Given the description of an element on the screen output the (x, y) to click on. 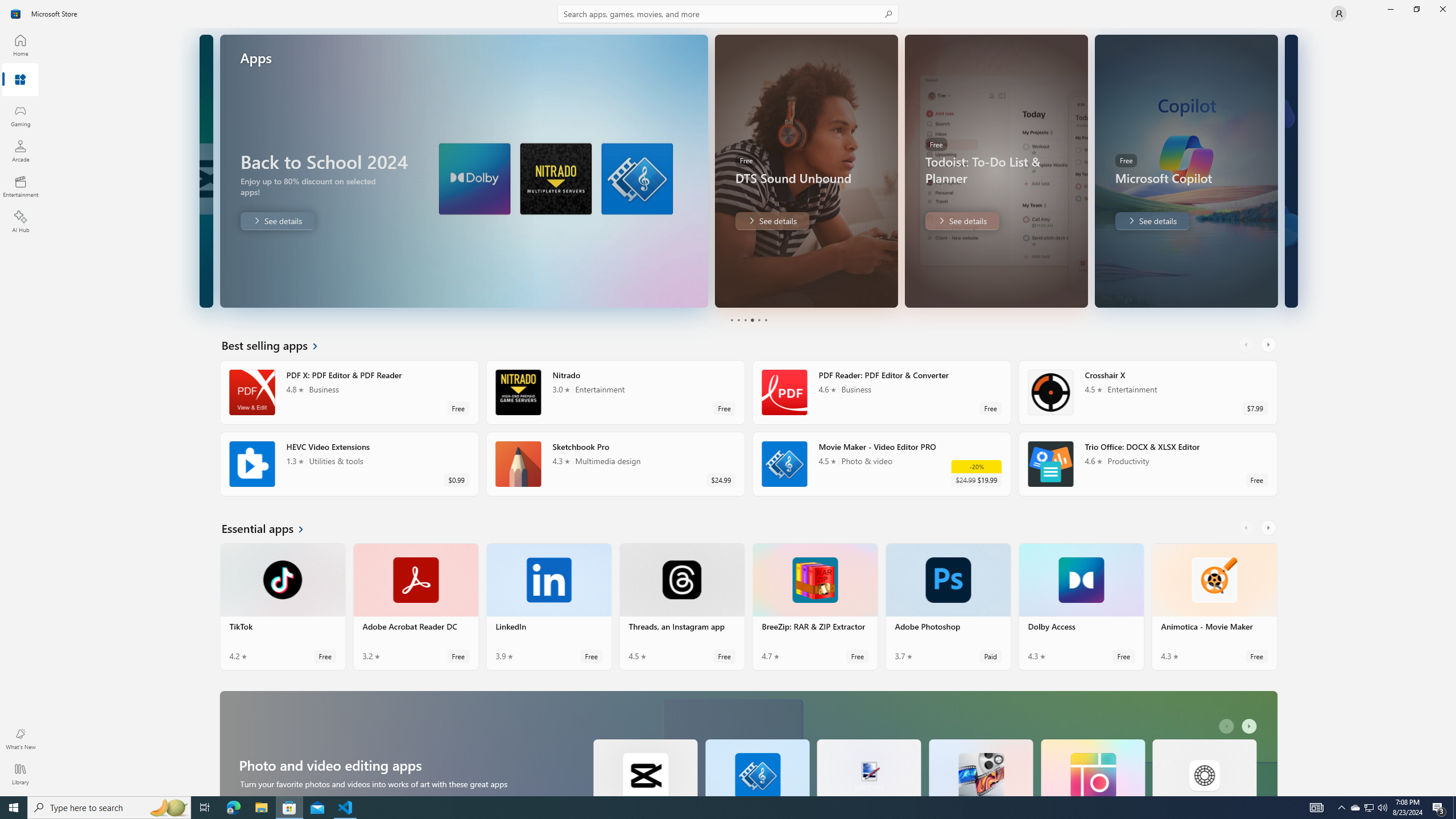
LinkedIn. Average rating of 3.9 out of five stars. Free   (548, 606)
Gaming (20, 115)
Page 4 (751, 319)
Restore Microsoft Store (1416, 9)
What's New (20, 738)
Arcade (20, 150)
Minimize Microsoft Store (1390, 9)
Library (20, 773)
DTS Sound Unbound. Save 30% now. Free . See details (277, 221)
